Given the description of an element on the screen output the (x, y) to click on. 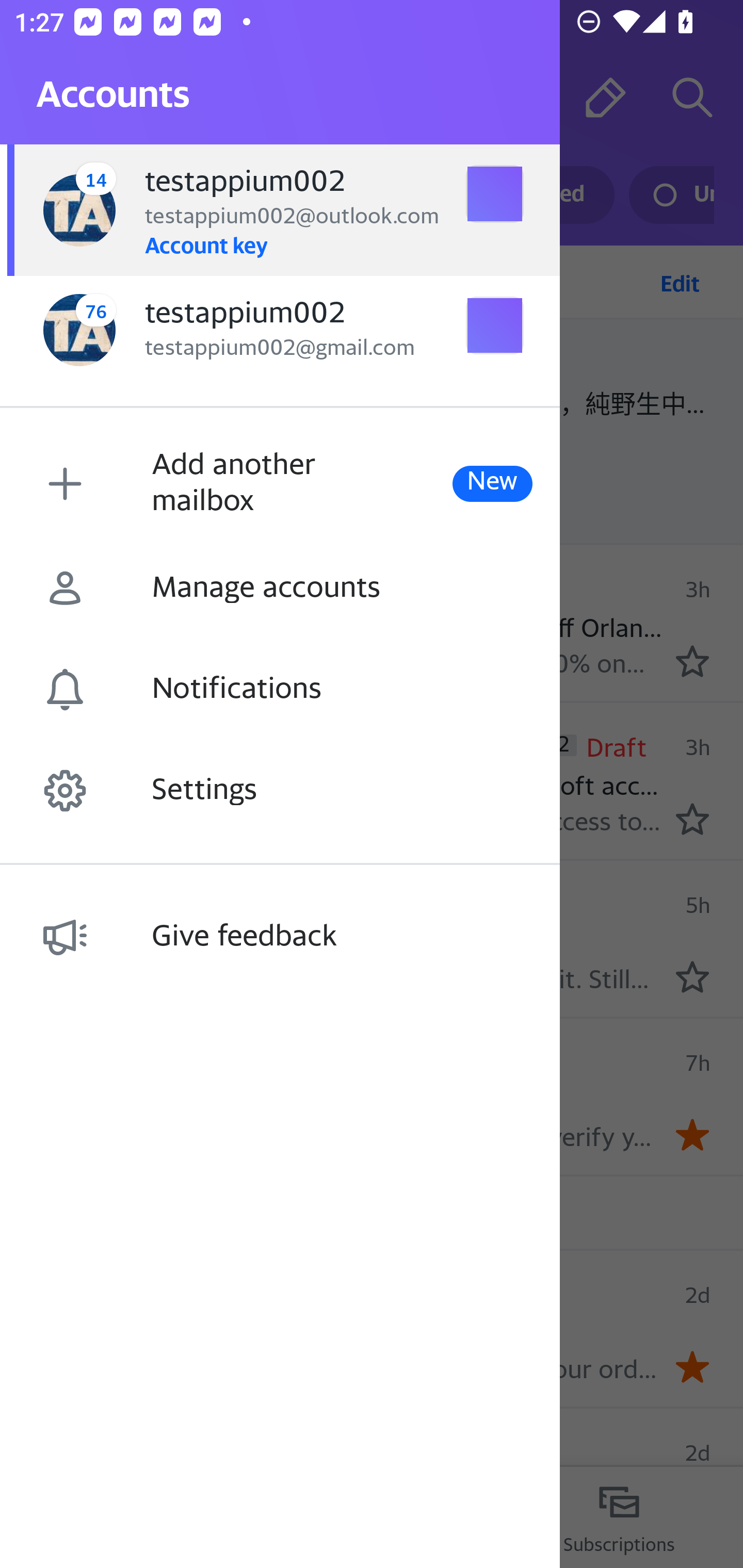
Account key (205, 244)
Add another mailbox New (279, 483)
Manage accounts (279, 588)
Notifications (279, 689)
Settings (279, 791)
Profile
Me & Microsoft account team (64, 779)
Give feedback (279, 936)
Profile
SeatGeek (64, 936)
